Given the description of an element on the screen output the (x, y) to click on. 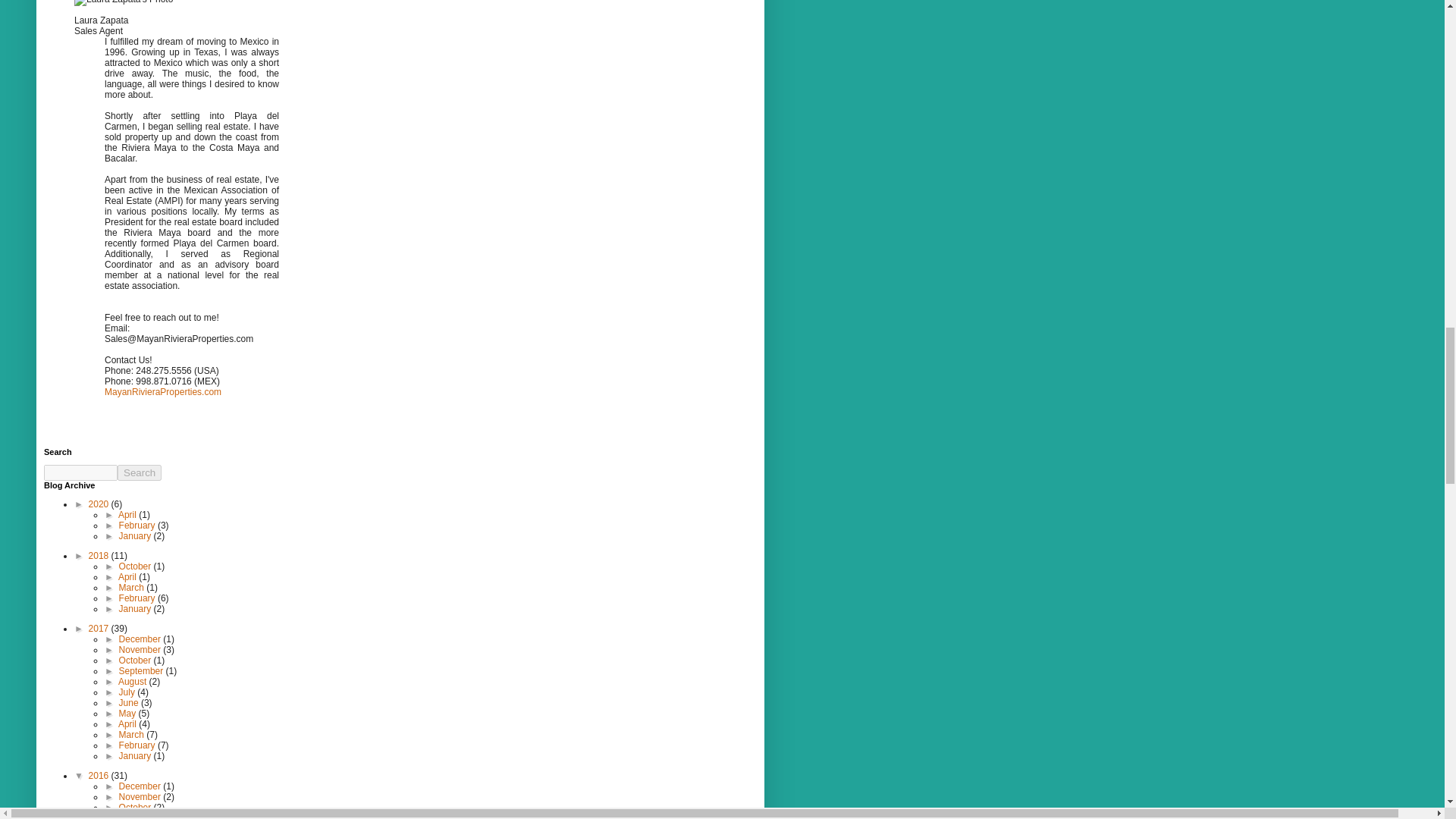
search (139, 472)
Search (139, 472)
February (138, 525)
2020 (100, 503)
Search (139, 472)
search (80, 472)
MayanRivieraProperties.com (162, 391)
Search (139, 472)
April (127, 514)
